Given the description of an element on the screen output the (x, y) to click on. 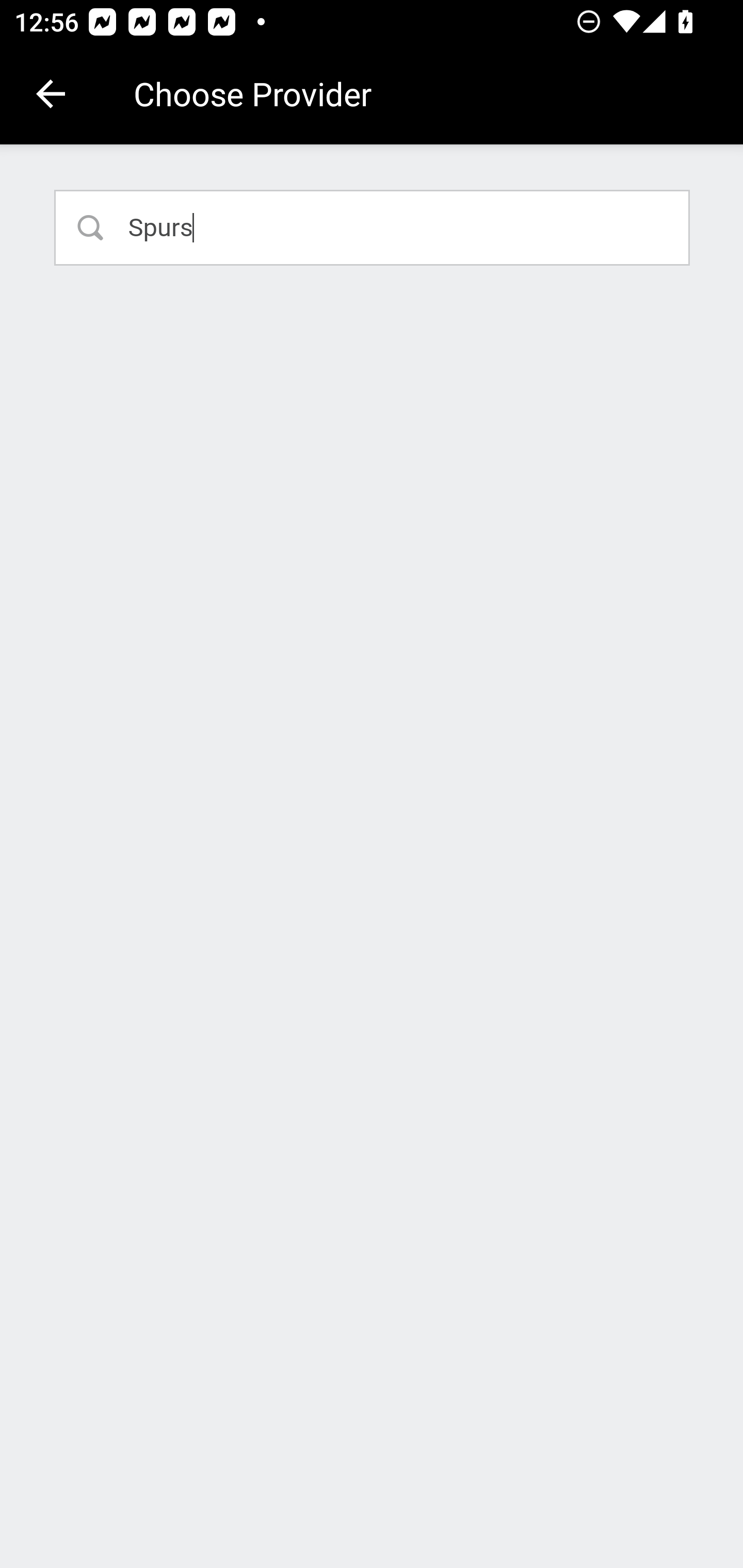
Navigate up (50, 93)
Spurs (372, 227)
